Given the description of an element on the screen output the (x, y) to click on. 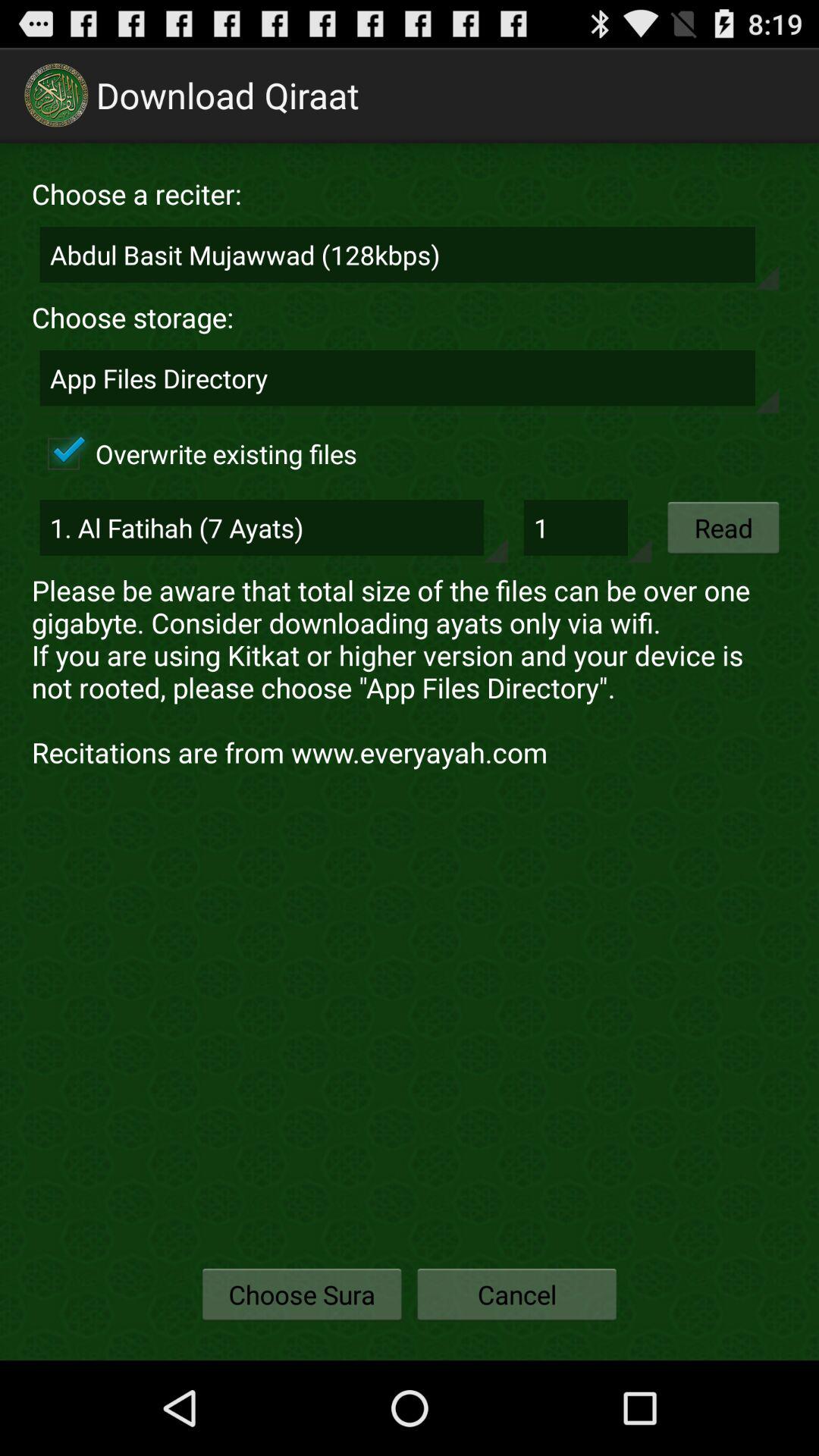
click on choose sura (301, 1294)
